Given the description of an element on the screen output the (x, y) to click on. 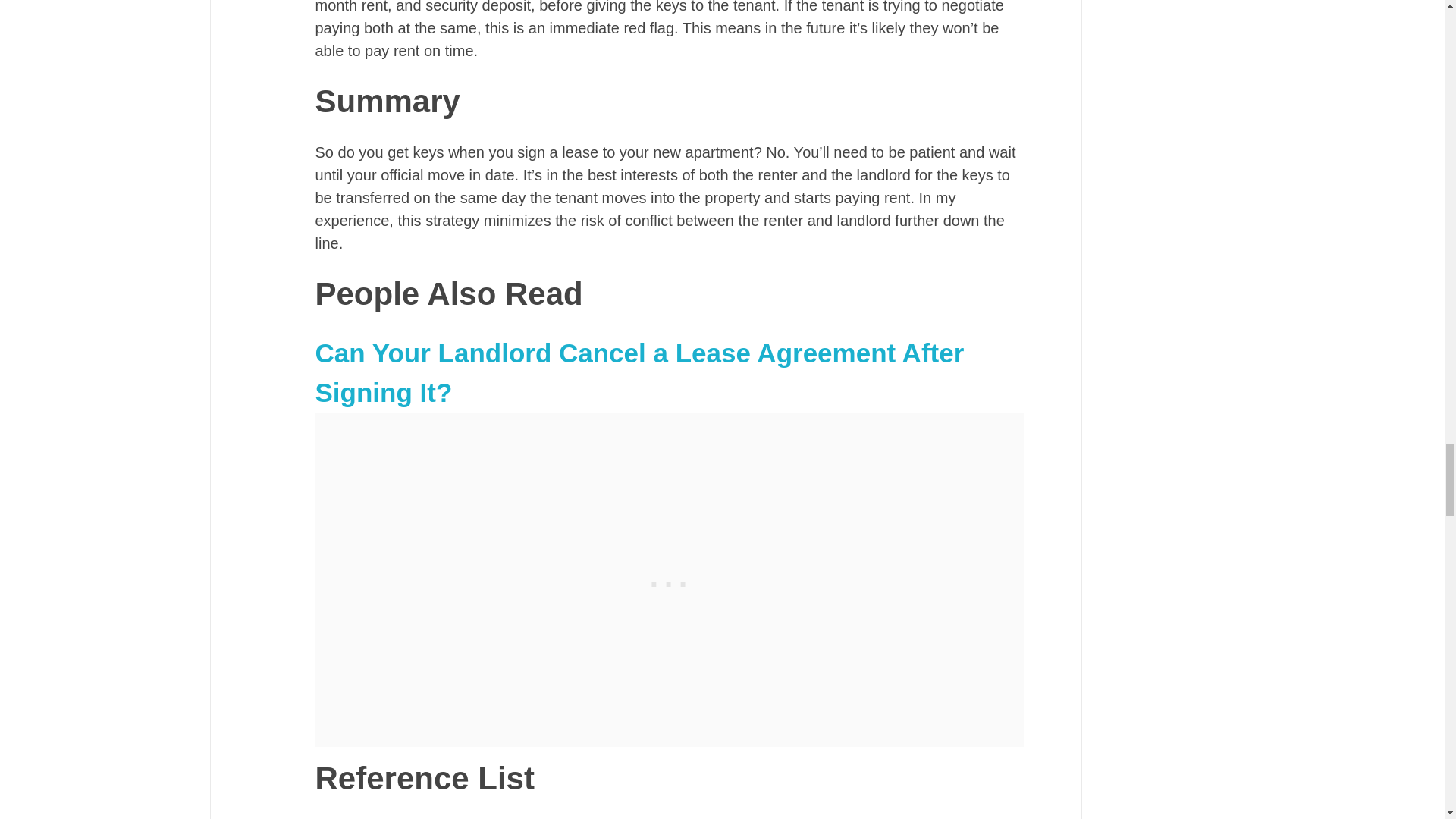
Can Your Landlord Cancel a Lease Agreement After Signing It? (639, 372)
